Given the description of an element on the screen output the (x, y) to click on. 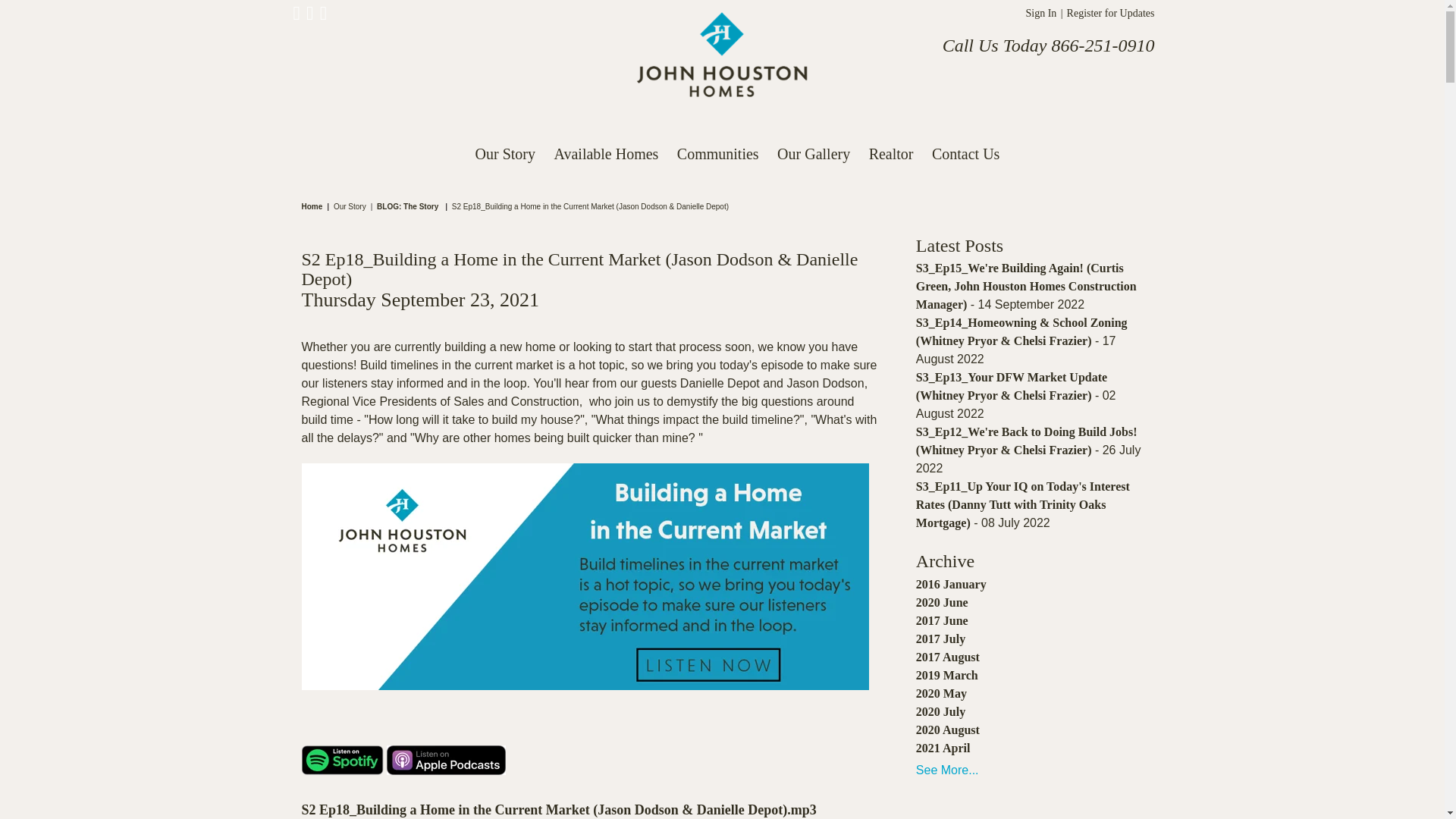
Available Homes (605, 153)
Communities (718, 153)
Realtor (891, 153)
Our Story (505, 153)
Register for Updates (1109, 12)
Contact Us (965, 153)
Our Gallery (813, 153)
Sign In (1041, 12)
